Given the description of an element on the screen output the (x, y) to click on. 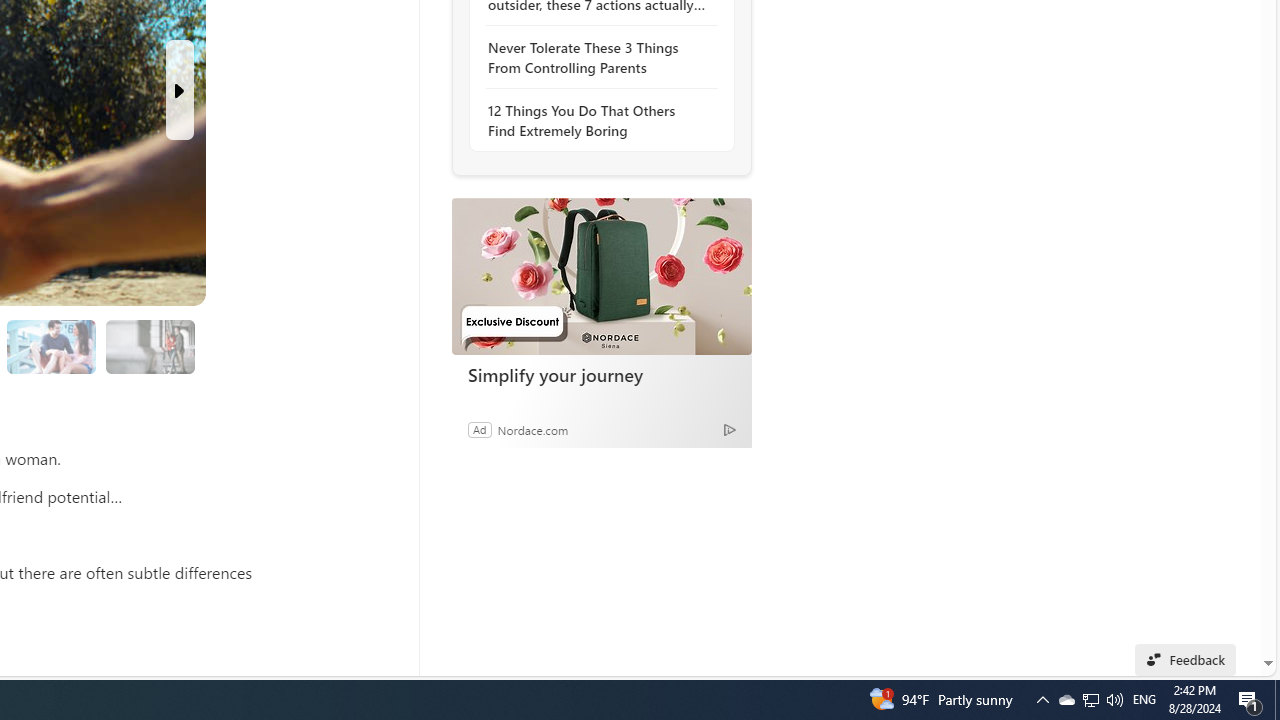
Simplify your journey (601, 374)
Next Slide (179, 89)
7. She can communicate her needs and wants. (150, 346)
3. People flirt with you and want your company. (51, 346)
7. She can communicate her needs and wants. (149, 346)
Nordace.com (532, 429)
Never Tolerate These 3 Things From Controlling Parents (596, 57)
12 Things You Do That Others Find Extremely Boring (596, 120)
Simplify your journey (601, 276)
Class: progress (149, 343)
